Given the description of an element on the screen output the (x, y) to click on. 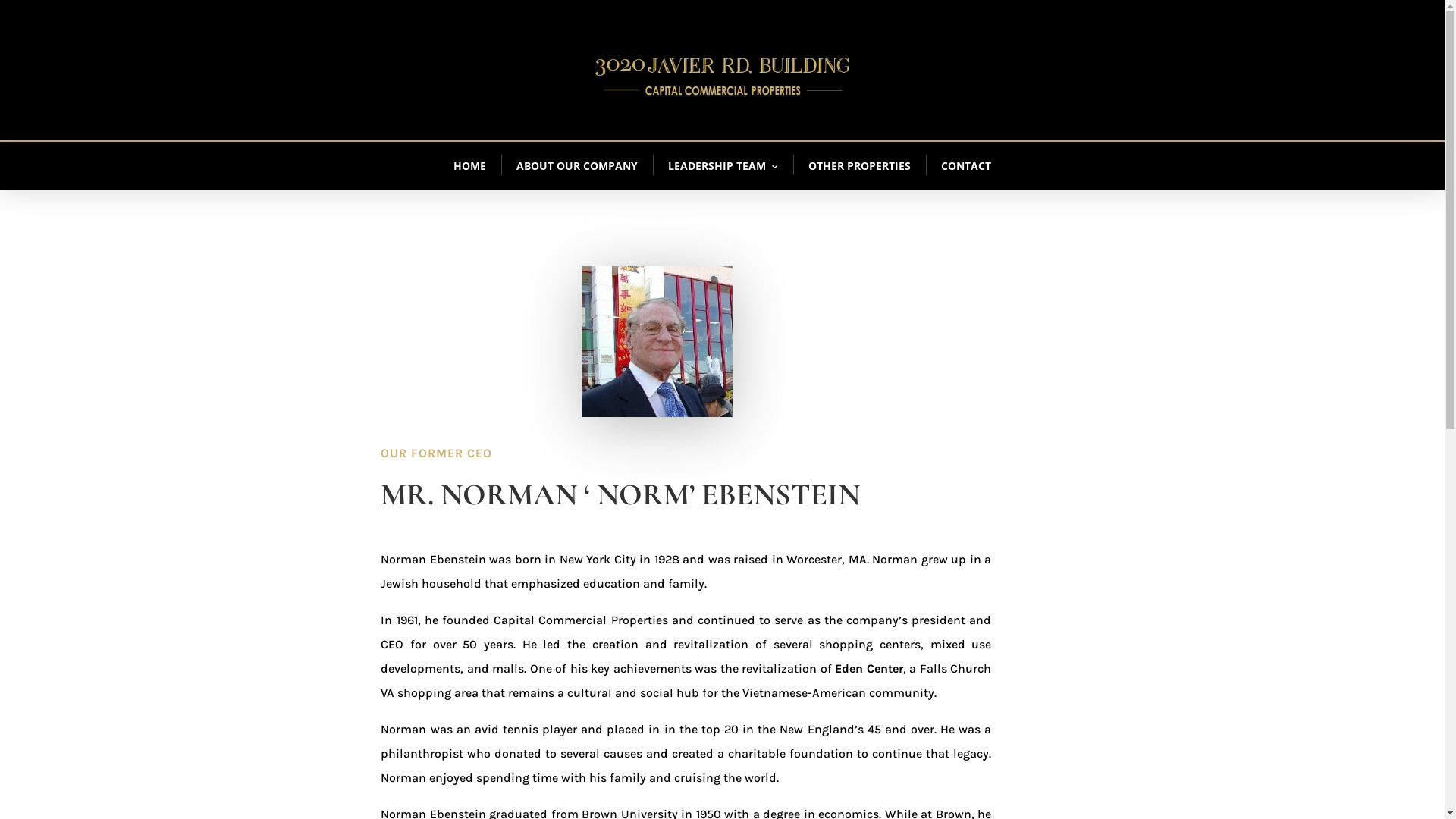
3020-javierroad) Element type: hover (722, 75)
Eden Center Element type: text (868, 668)
LEADERSHIP TEAM Element type: text (722, 165)
CONTACT Element type: text (965, 165)
HOME Element type: text (469, 165)
ABOUT OUR COMPANY Element type: text (576, 165)
OTHER PROPERTIES Element type: text (859, 165)
